Given the description of an element on the screen output the (x, y) to click on. 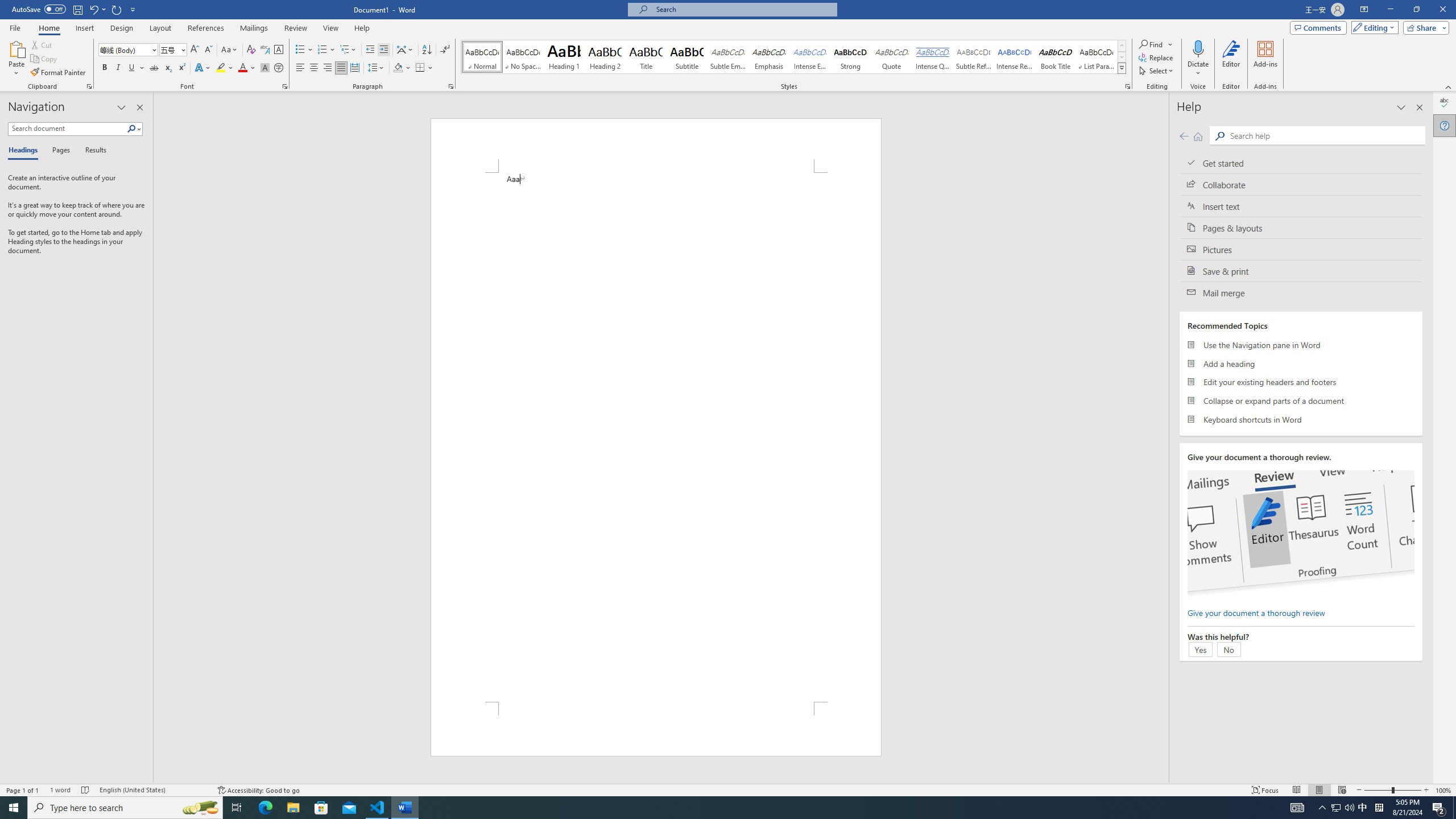
Intense Reference (1014, 56)
Mail merge (1300, 292)
